Given the description of an element on the screen output the (x, y) to click on. 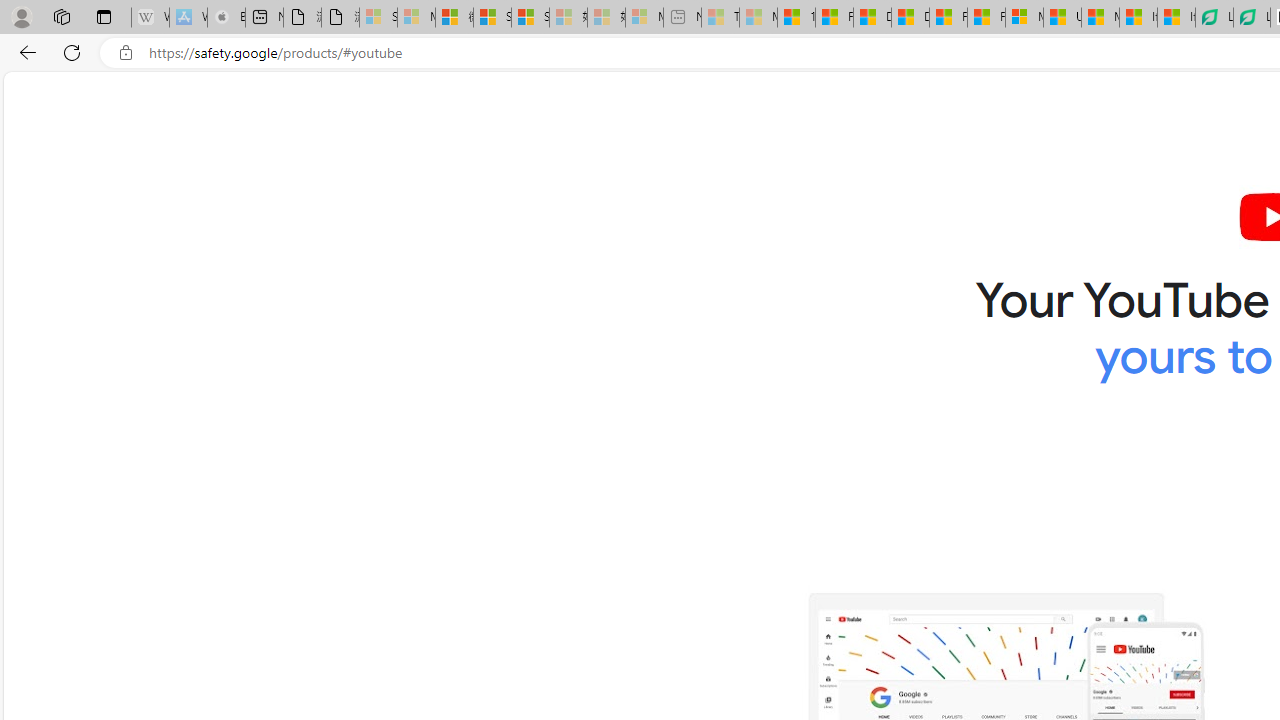
Drinking tea every day is proven to delay biological aging (910, 17)
Sign in to your Microsoft account - Sleeping (377, 17)
Microsoft account | Account Checkup - Sleeping (644, 17)
Foo BAR | Trusted Community Engagement and Contributions (985, 17)
Microsoft Services Agreement - Sleeping (416, 17)
Top Stories - MSN - Sleeping (719, 17)
Food and Drink - MSN (833, 17)
